Given the description of an element on the screen output the (x, y) to click on. 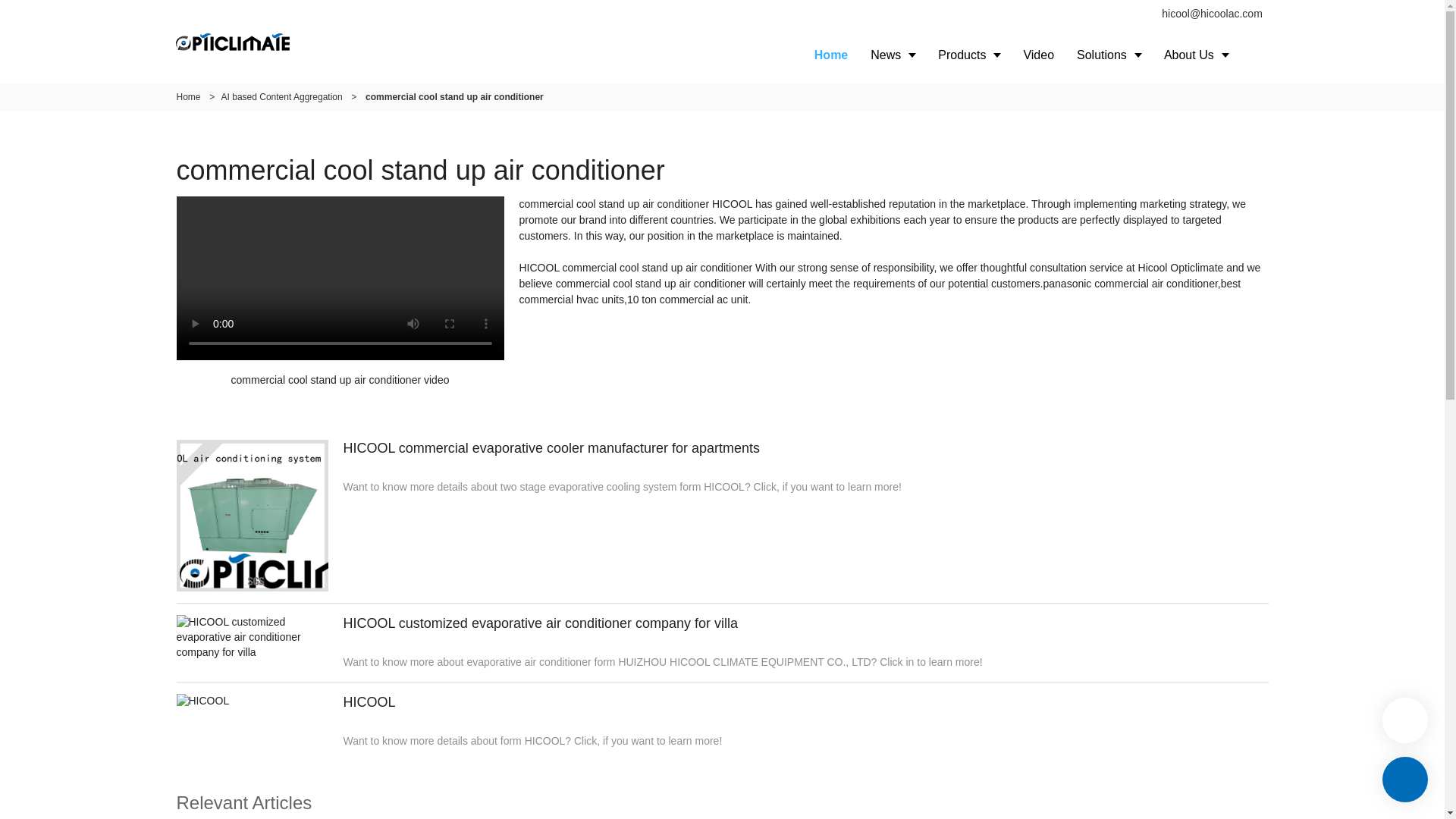
Home (831, 55)
Products (968, 55)
AI based Content Aggregation (281, 96)
Home (188, 96)
About Us (1196, 55)
Video (1038, 55)
Solutions (1109, 55)
